Given the description of an element on the screen output the (x, y) to click on. 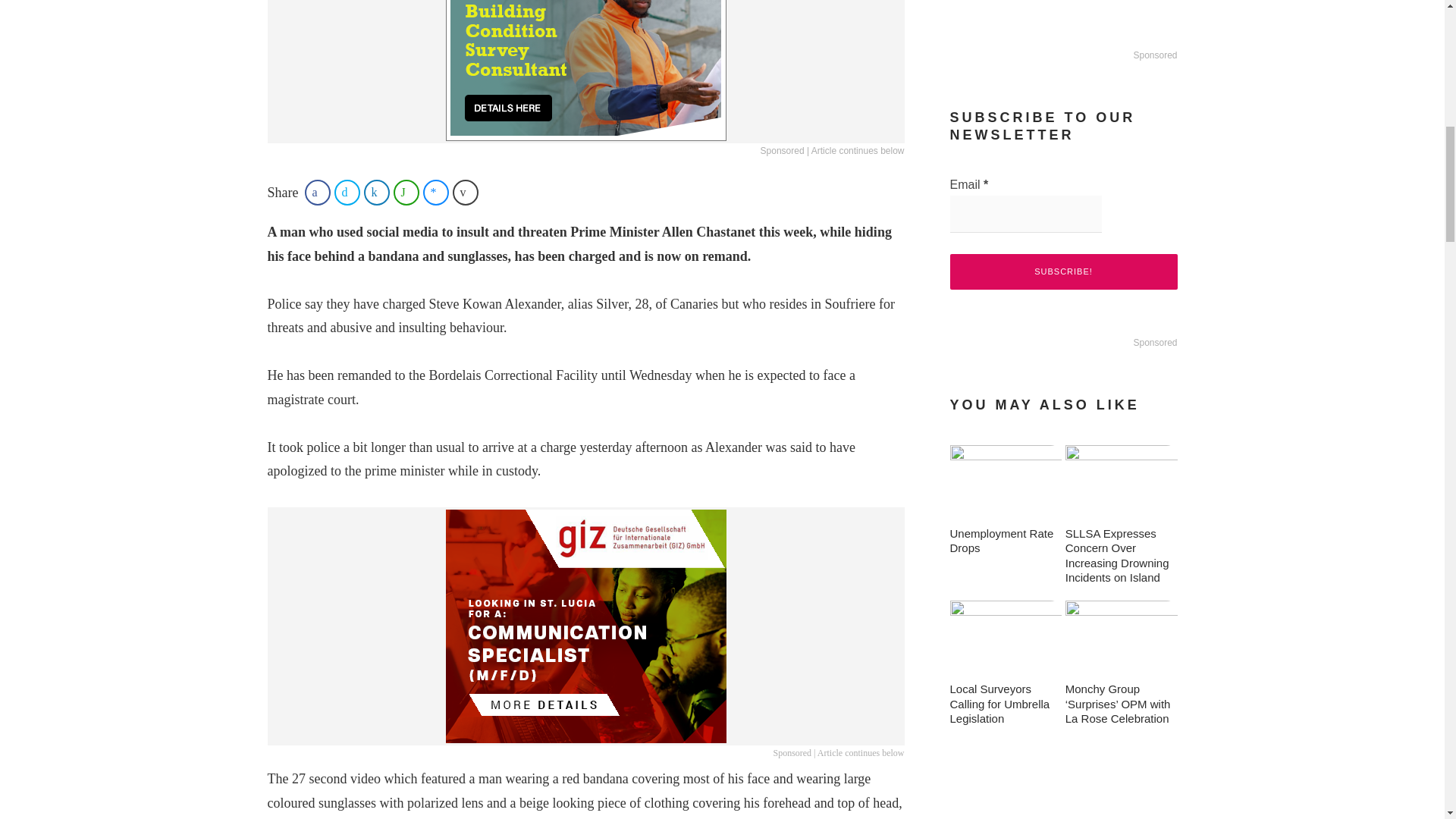
Subscribe! (1062, 271)
Share on Email (465, 192)
Share on LinkedIn (377, 192)
Share on WhatsApp (406, 192)
Share on Twitter (346, 192)
Share on Facebook (317, 192)
Share on Facebook Messenger (435, 192)
